Given the description of an element on the screen output the (x, y) to click on. 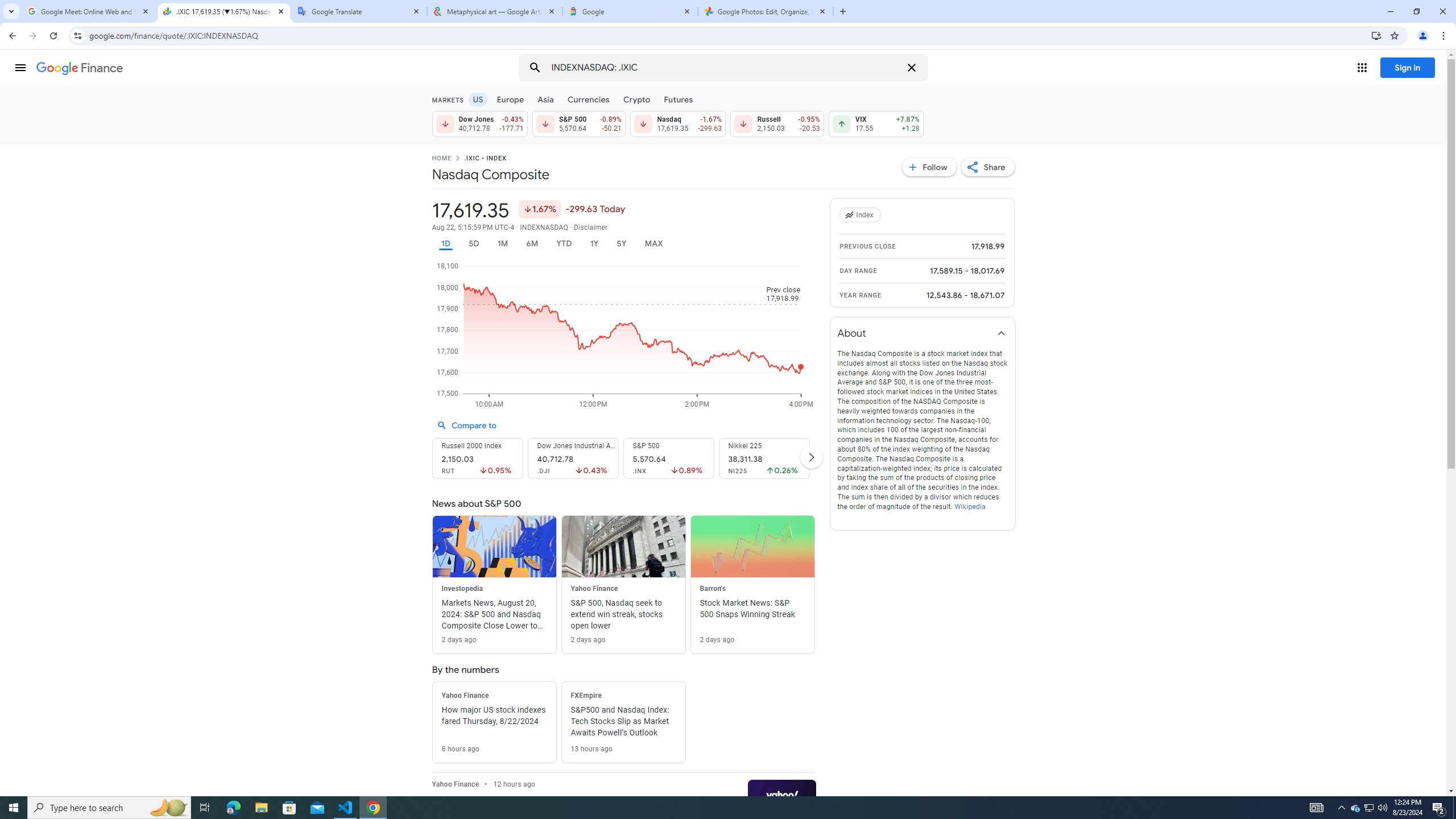
Index (861, 214)
US (477, 99)
Install Google Finance (1376, 35)
Dow Jones 40,712.78 Down by 0.43% -177.71 (478, 123)
MAX (653, 243)
Google (630, 11)
5Y (621, 243)
1M (501, 243)
1D (445, 243)
Google Translate (359, 11)
Russell 2,150.03 Down by 0.95% -20.53 (777, 123)
